Given the description of an element on the screen output the (x, y) to click on. 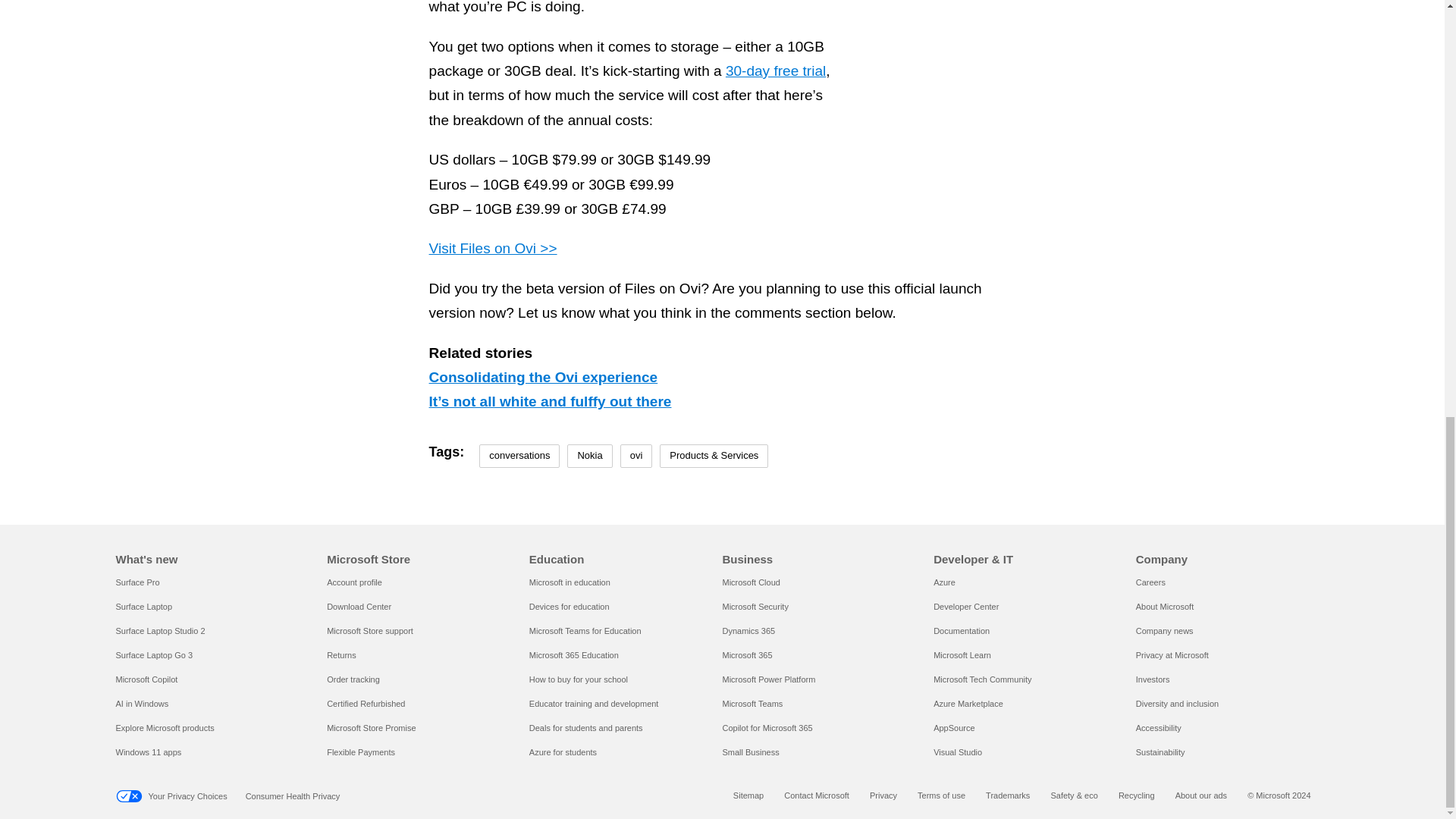
conversations Tag (519, 455)
Files on Ovi officially goes live (1098, 34)
ovi Tag (636, 455)
Nokia Tag (589, 455)
